Given the description of an element on the screen output the (x, y) to click on. 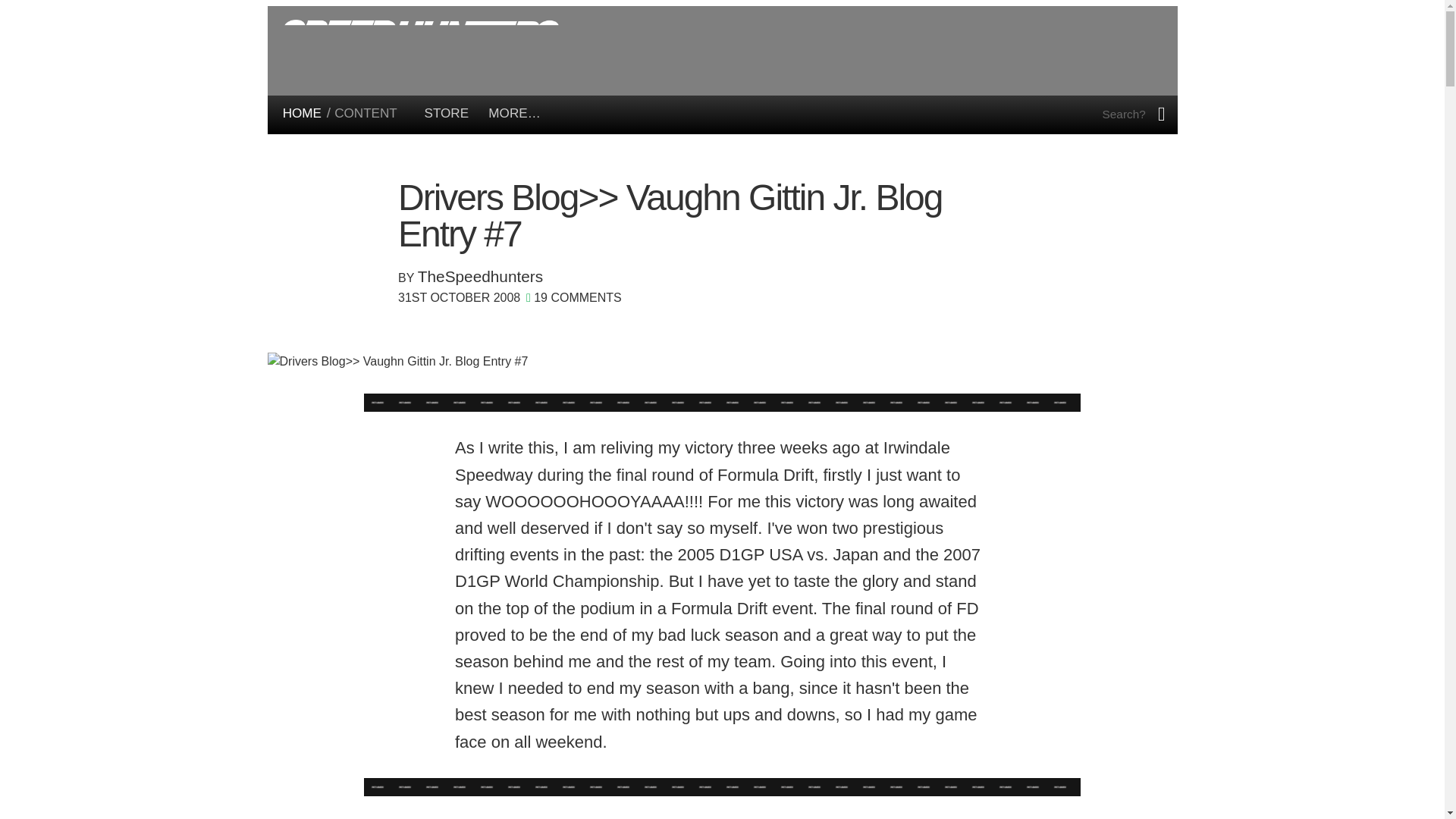
Posts by TheSpeedhunters (480, 276)
HOME (301, 113)
CONTENT (365, 113)
STORE (446, 113)
